Given the description of an element on the screen output the (x, y) to click on. 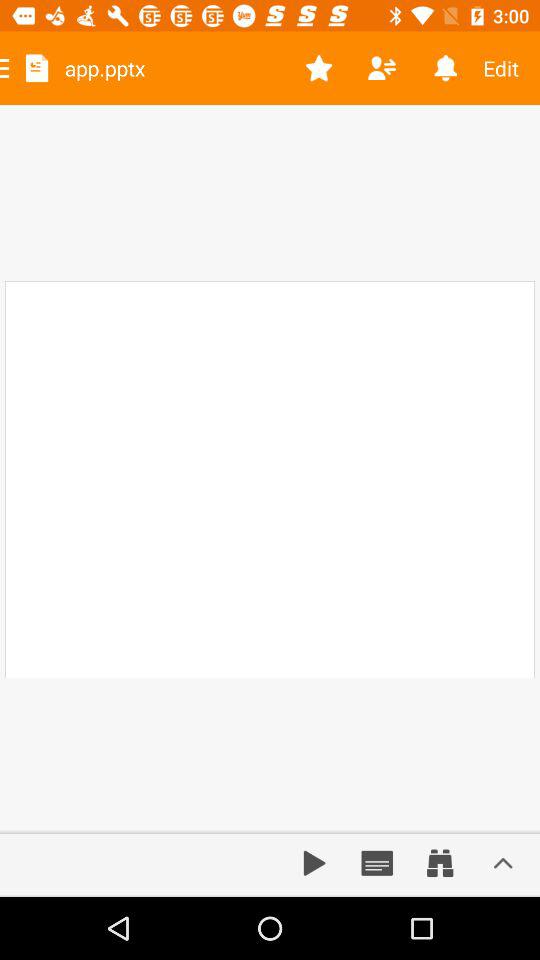
view connected people (381, 68)
